Given the description of an element on the screen output the (x, y) to click on. 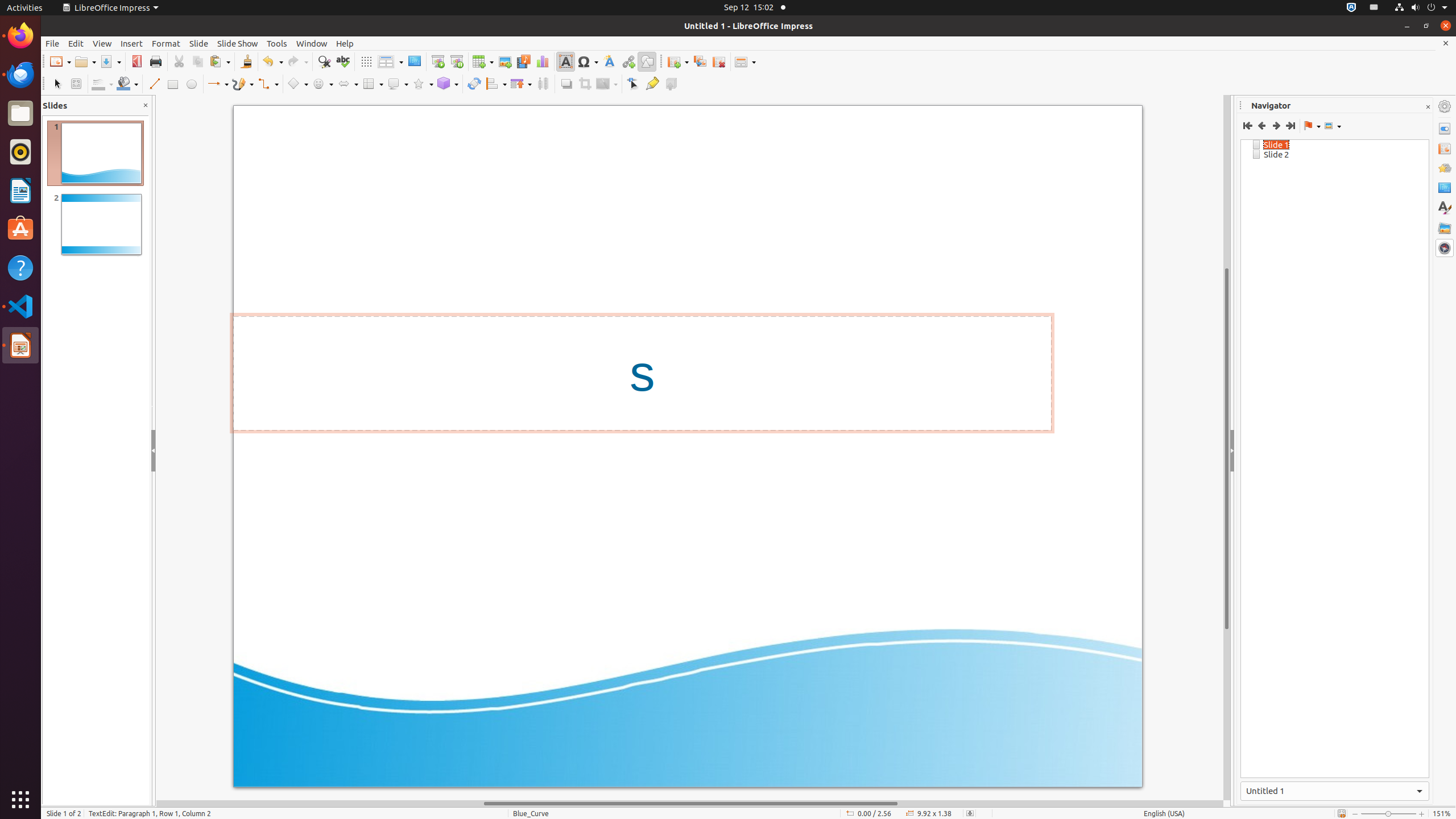
Display Views Element type: push-button (389, 61)
Zoom & Pan Element type: push-button (75, 83)
Copy Element type: push-button (197, 61)
Star Shapes Element type: push-button (422, 83)
Show Shapes Element type: push-button (1332, 125)
